Given the description of an element on the screen output the (x, y) to click on. 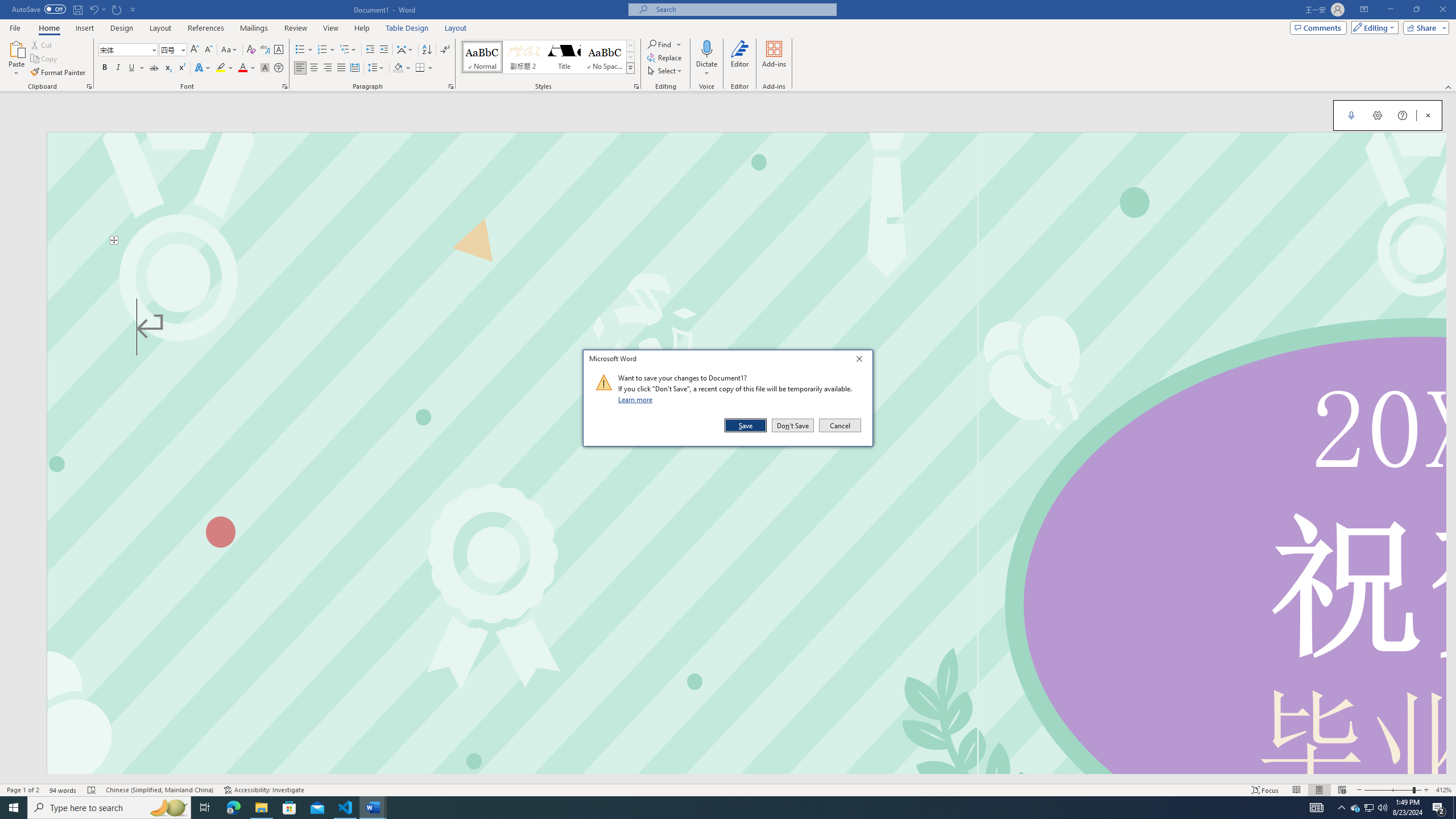
Don't Save (792, 425)
